Given the description of an element on the screen output the (x, y) to click on. 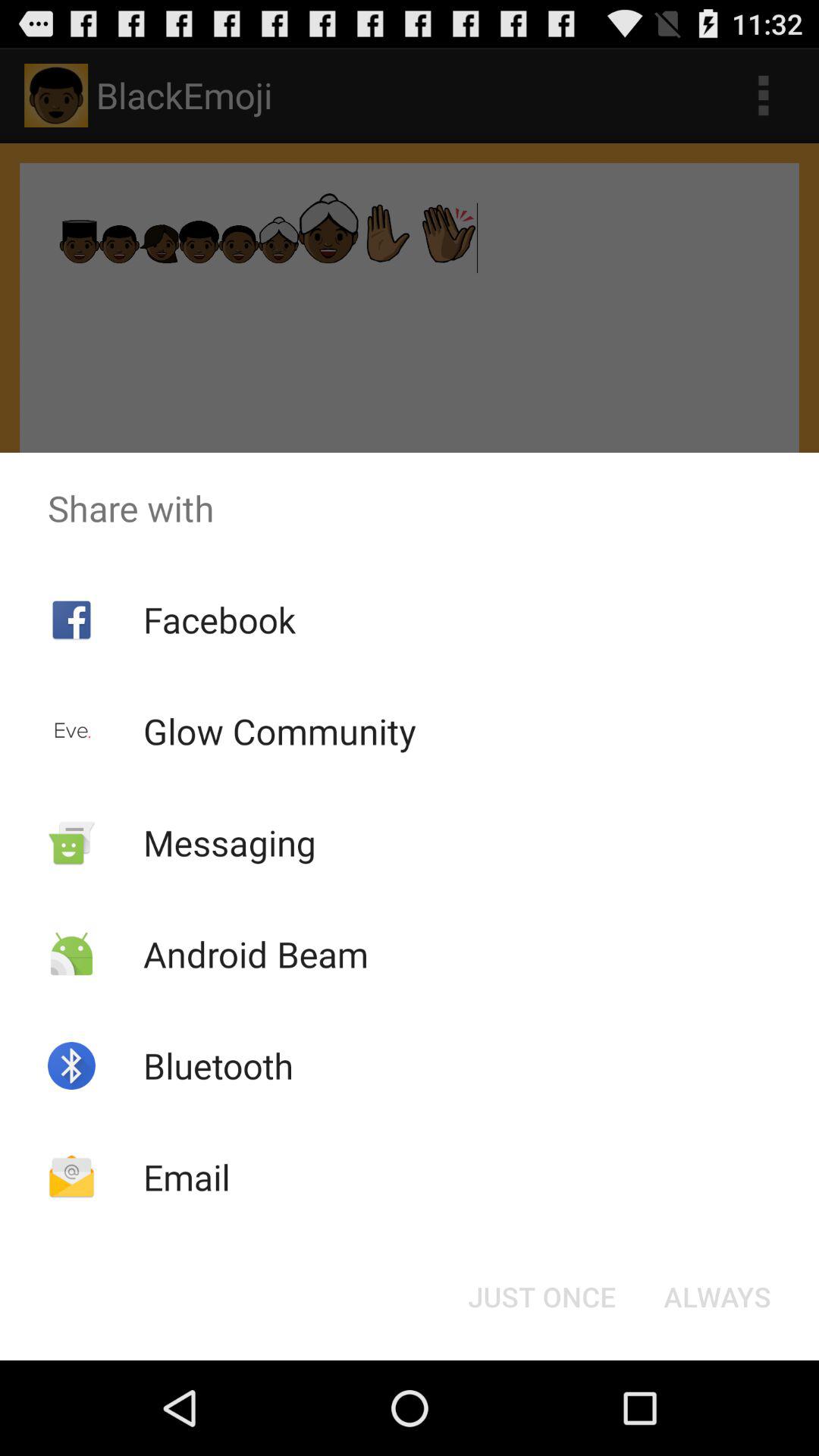
launch the button to the right of the just once button (717, 1296)
